Given the description of an element on the screen output the (x, y) to click on. 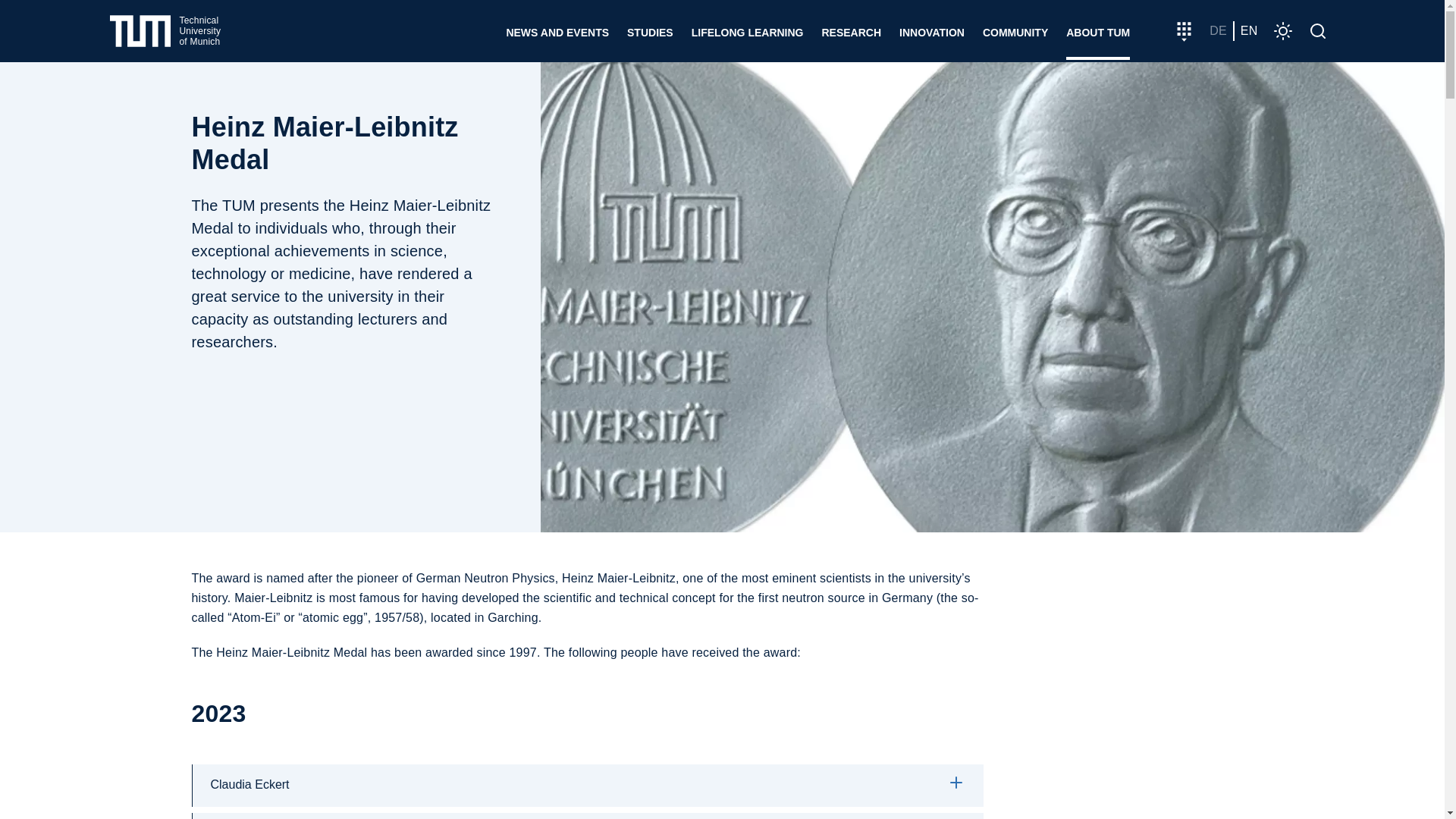
SKIP TO MAIN CONTENT (165, 31)
NEWS AND EVENTS (165, 31)
